Given the description of an element on the screen output the (x, y) to click on. 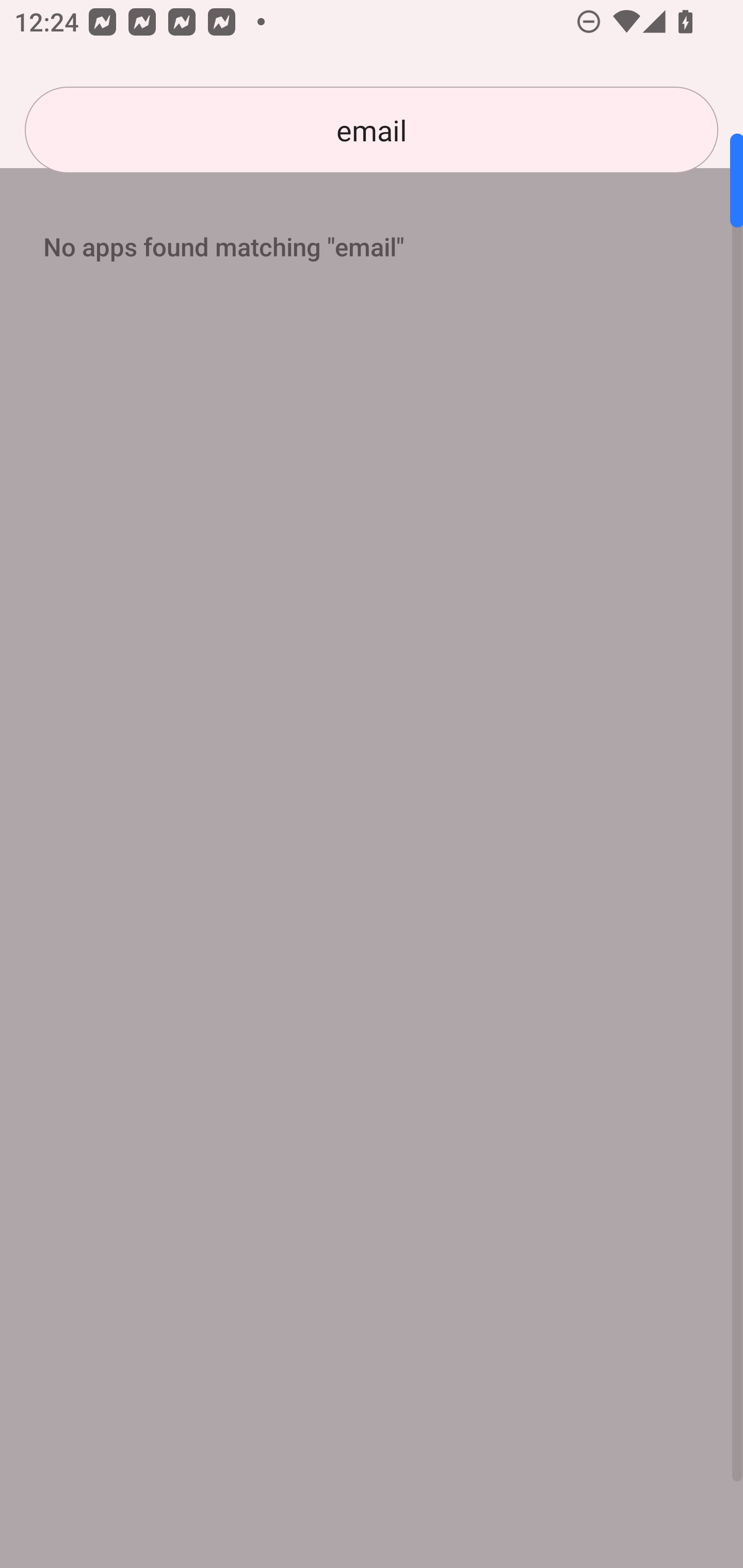
email (371, 130)
